Given the description of an element on the screen output the (x, y) to click on. 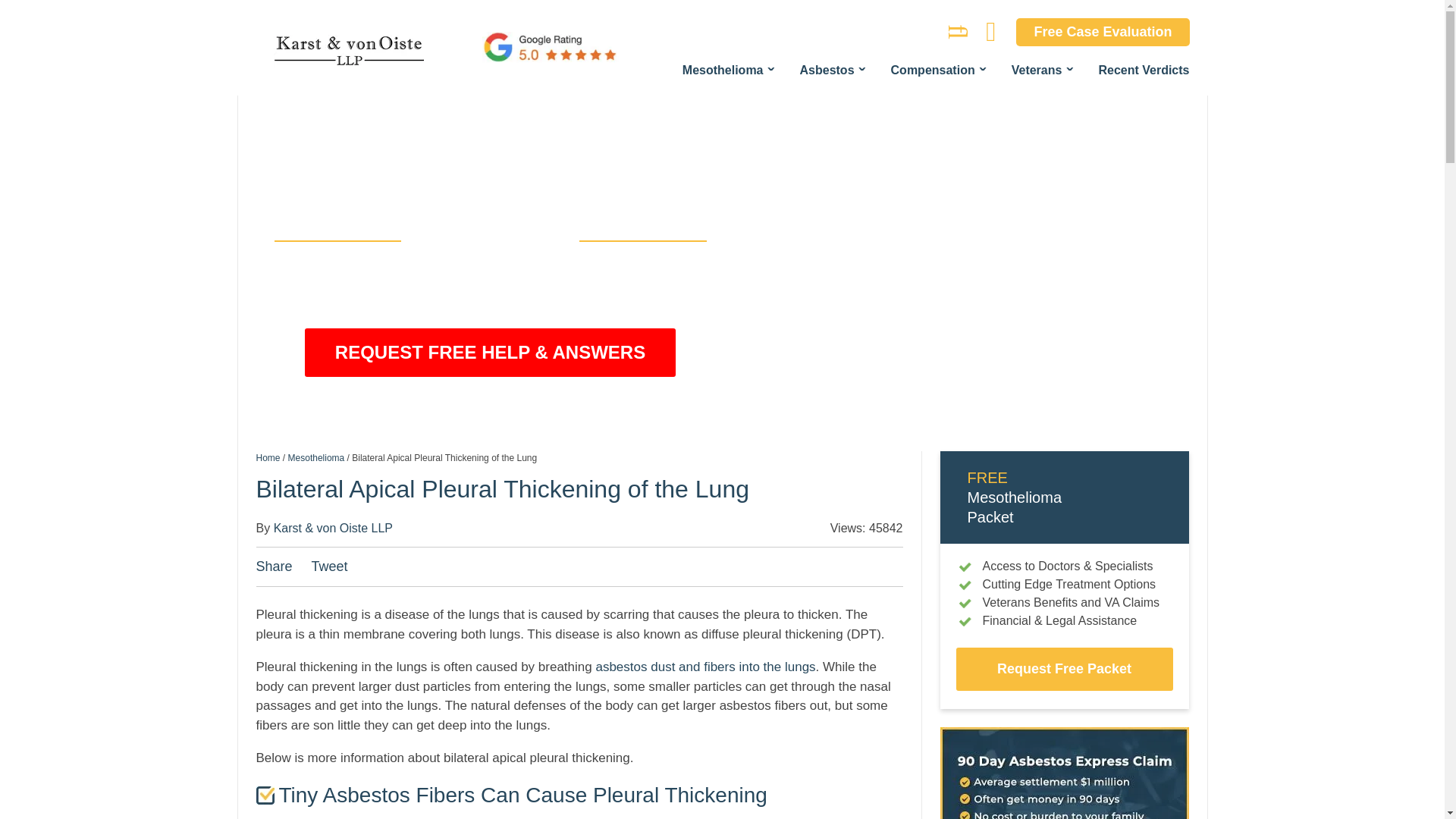
Free Case Evaluation (1102, 31)
Asbestos (832, 69)
Mesothelioma (728, 69)
Compensation (939, 69)
90 Day Express Asbestos Claims (1064, 773)
